Given the description of an element on the screen output the (x, y) to click on. 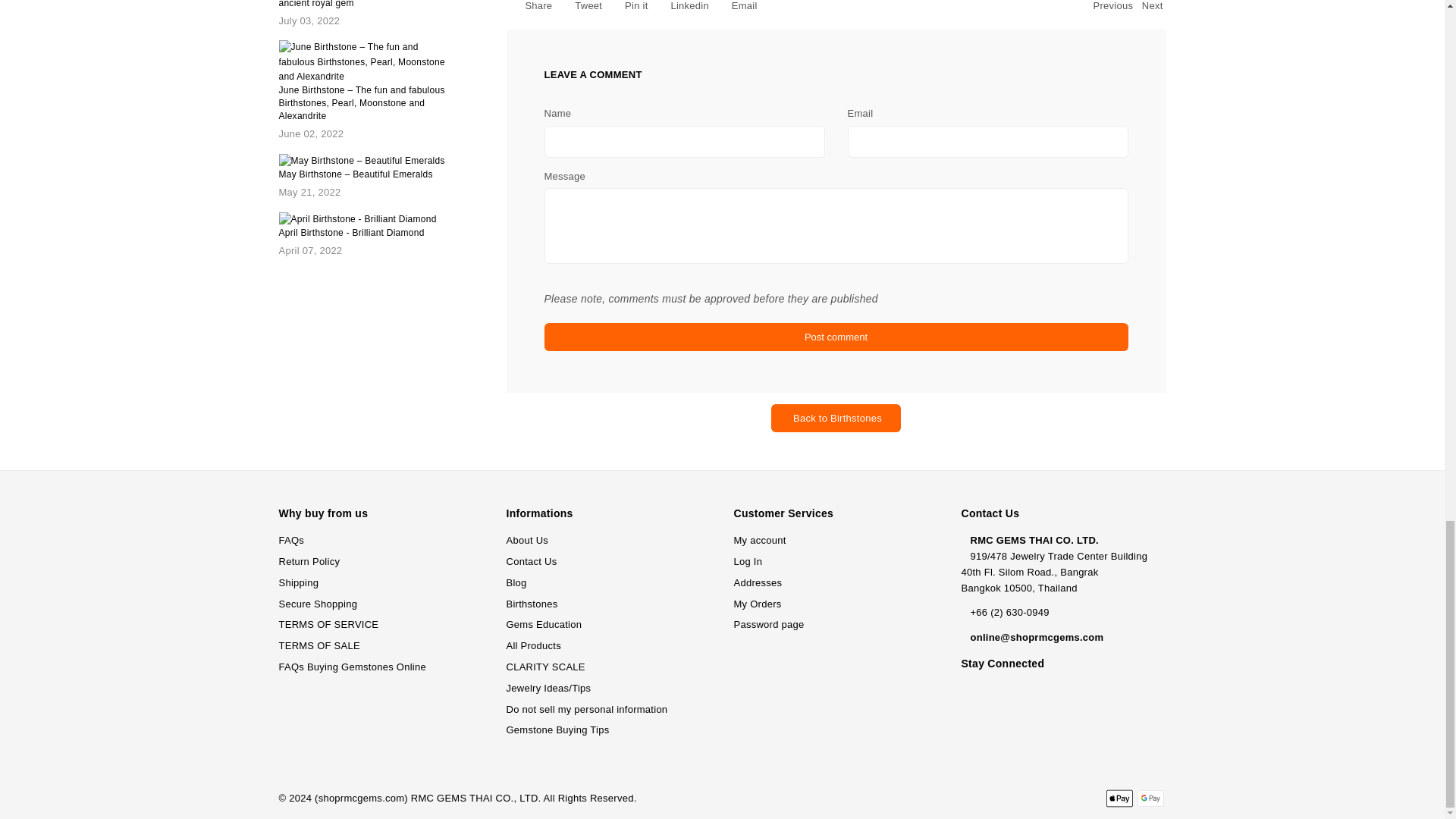
Post comment (836, 336)
Google Pay (1150, 798)
Tweet on Twitter (580, 7)
Share on Linkedin (682, 7)
Apple Pay (1118, 798)
Share on Facebook (531, 7)
Pin on Pinterest (627, 7)
